Given the description of an element on the screen output the (x, y) to click on. 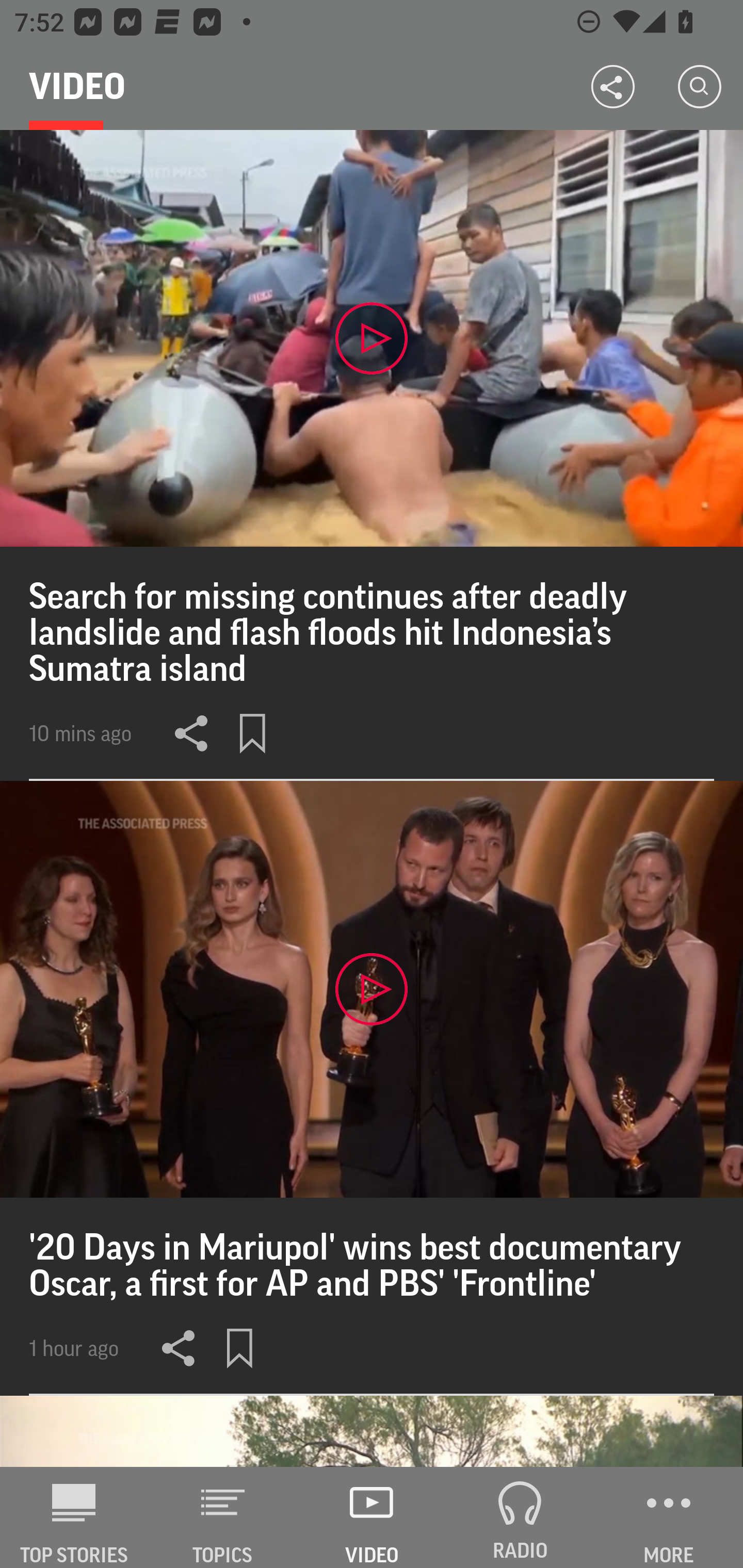
AP News TOP STORIES (74, 1517)
TOPICS (222, 1517)
VIDEO (371, 1517)
RADIO (519, 1517)
MORE (668, 1517)
